Given the description of an element on the screen output the (x, y) to click on. 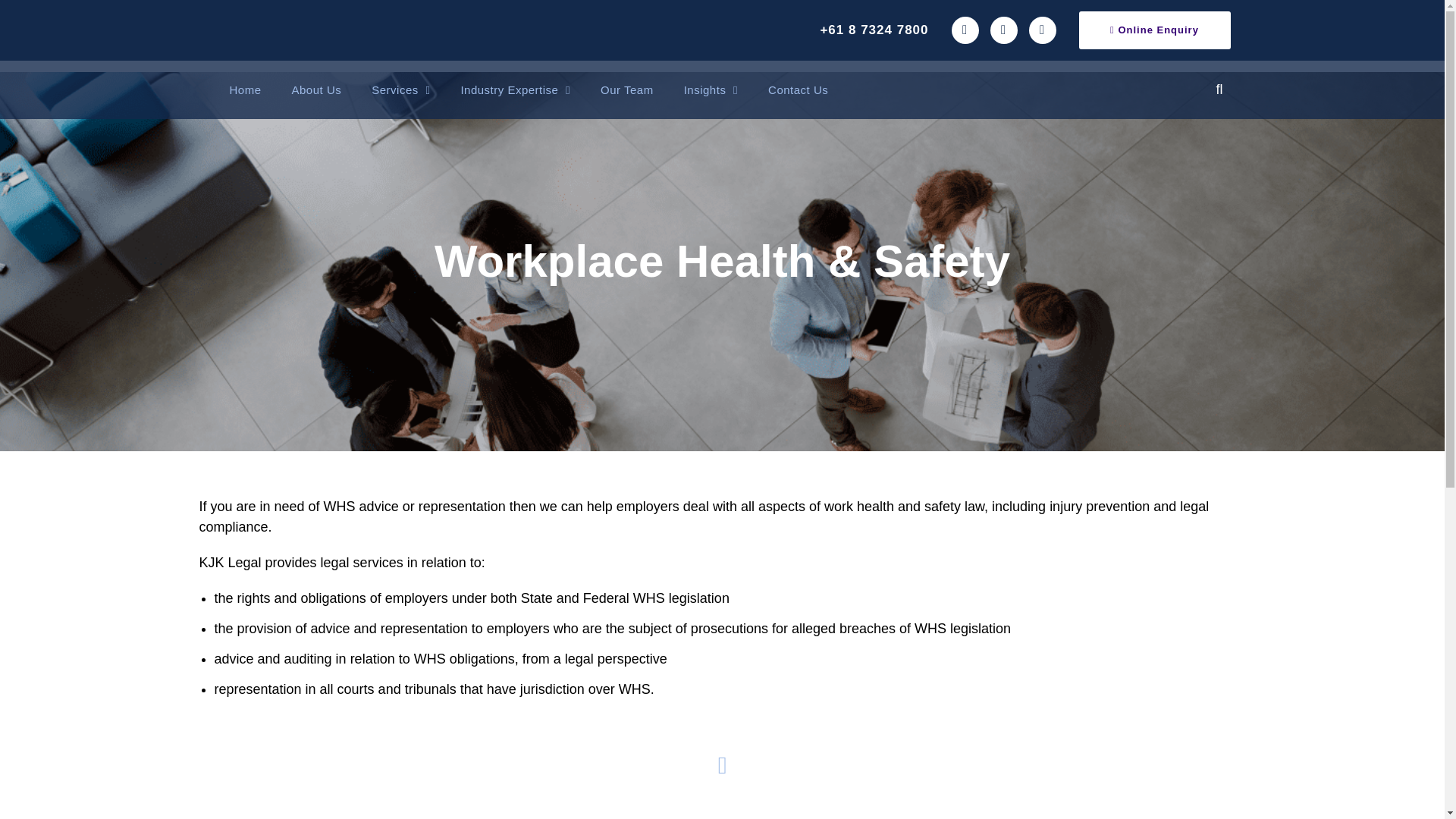
Industry Expertise (515, 90)
Contact Us (797, 90)
Our Team (626, 90)
Services (400, 90)
About Us (316, 90)
Online Enquiry (1154, 30)
Insights (710, 90)
Home (245, 90)
